Given the description of an element on the screen output the (x, y) to click on. 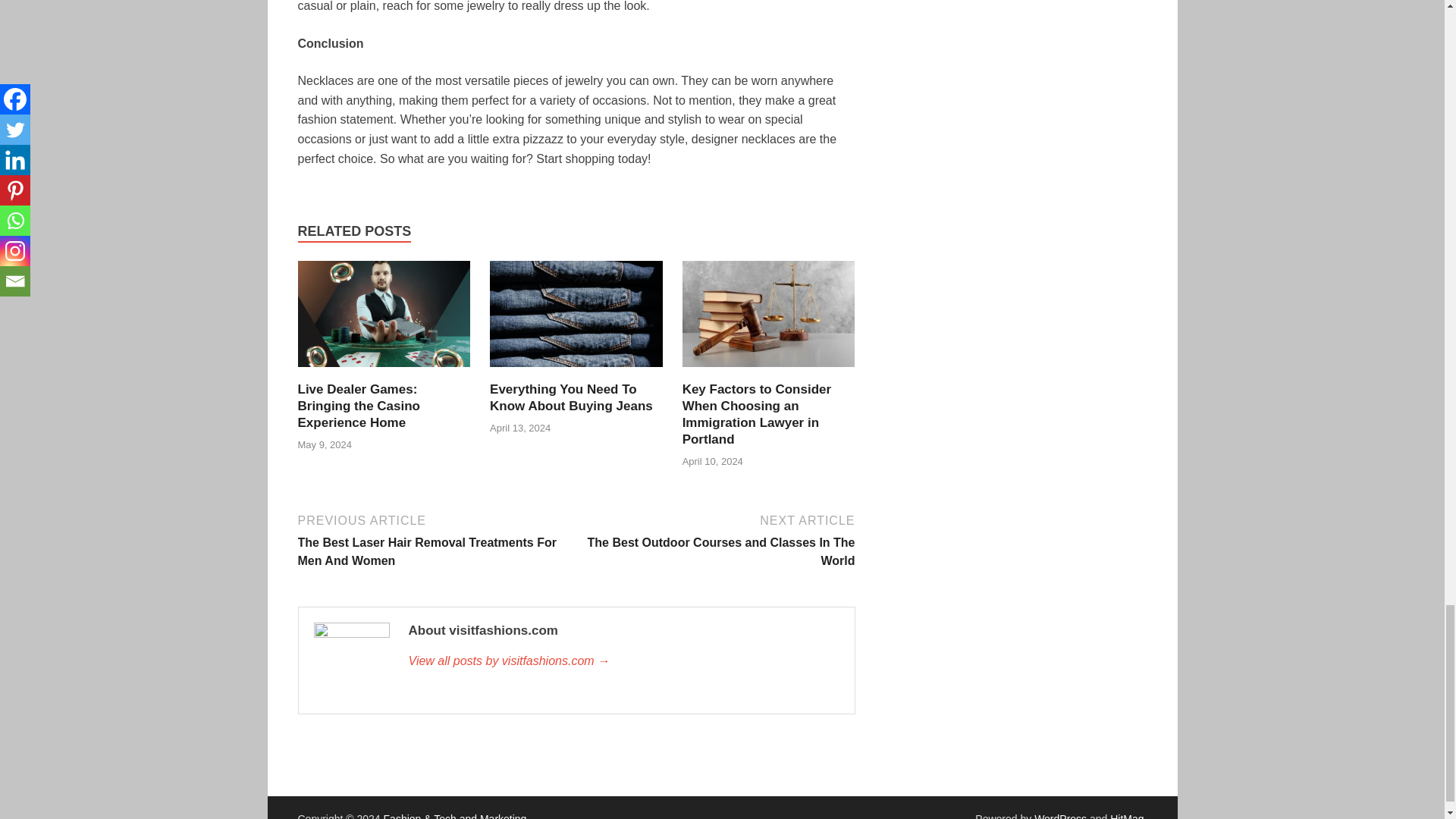
Live Dealer Games: Bringing the Casino Experience Home (358, 405)
Live Dealer Games: Bringing the Casino Experience Home (383, 371)
